Given the description of an element on the screen output the (x, y) to click on. 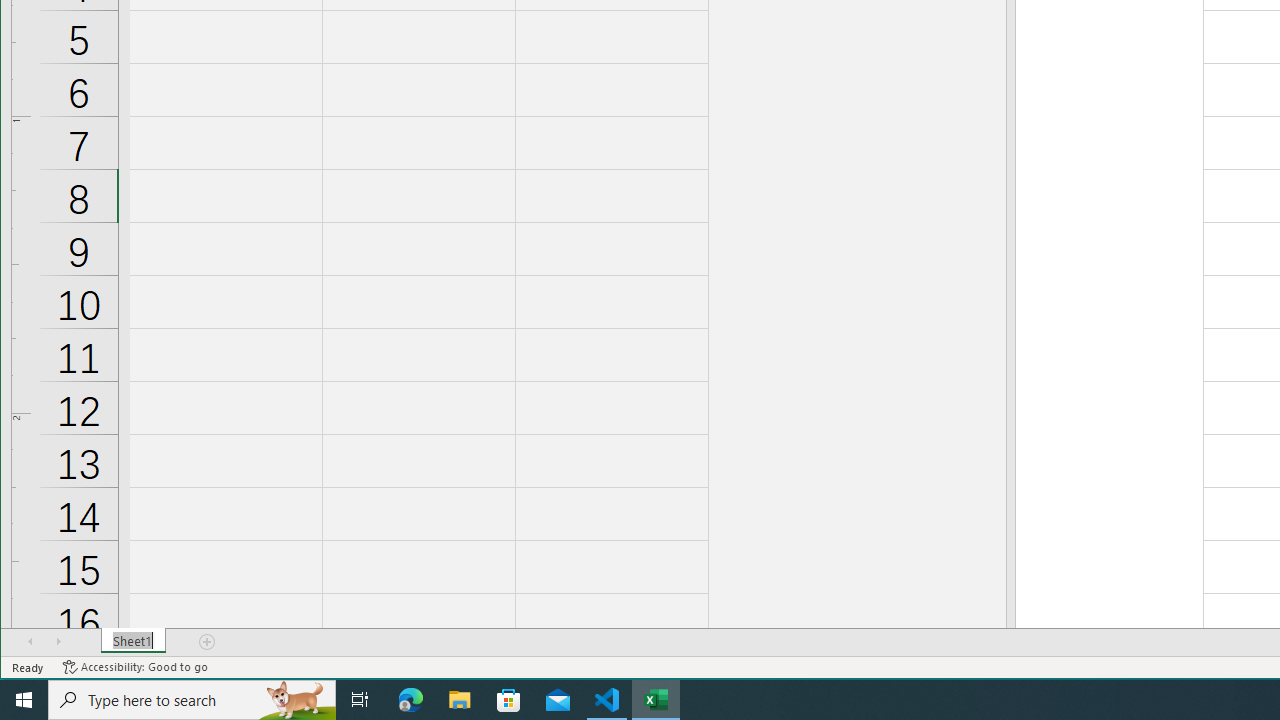
Start (24, 699)
Add Sheet (207, 641)
Microsoft Store (509, 699)
Scroll Left (30, 641)
Microsoft Edge (411, 699)
Task View (359, 699)
Sheet Tab (133, 641)
Sheet1 (133, 641)
File Explorer (460, 699)
Excel - 1 running window (656, 699)
Search highlights icon opens search home window (295, 699)
Type here to search (191, 699)
Visual Studio Code - 1 running window (607, 699)
Accessibility Checker Accessibility: Good to go (135, 667)
